Given the description of an element on the screen output the (x, y) to click on. 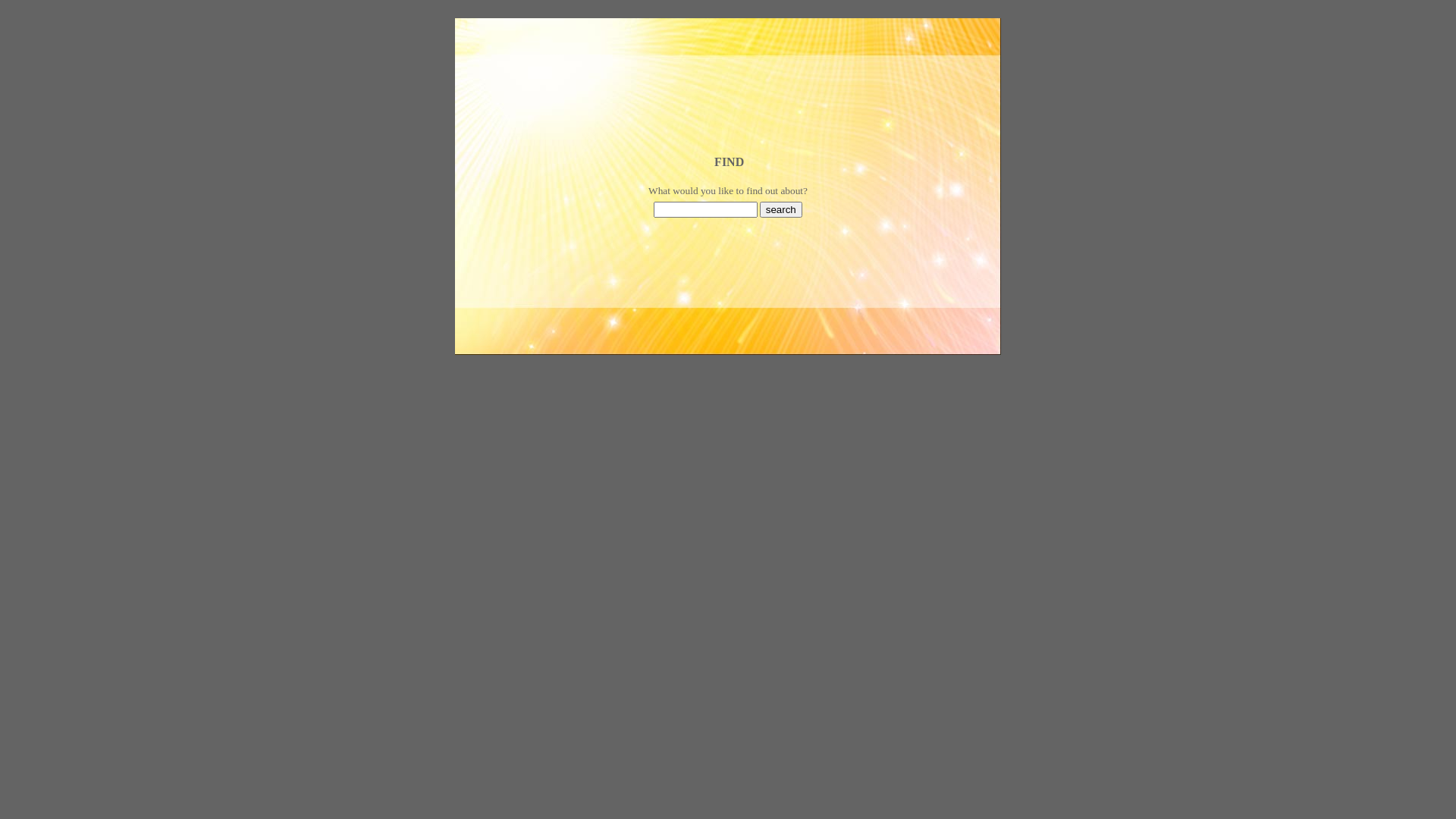
search Element type: text (780, 209)
